Given the description of an element on the screen output the (x, y) to click on. 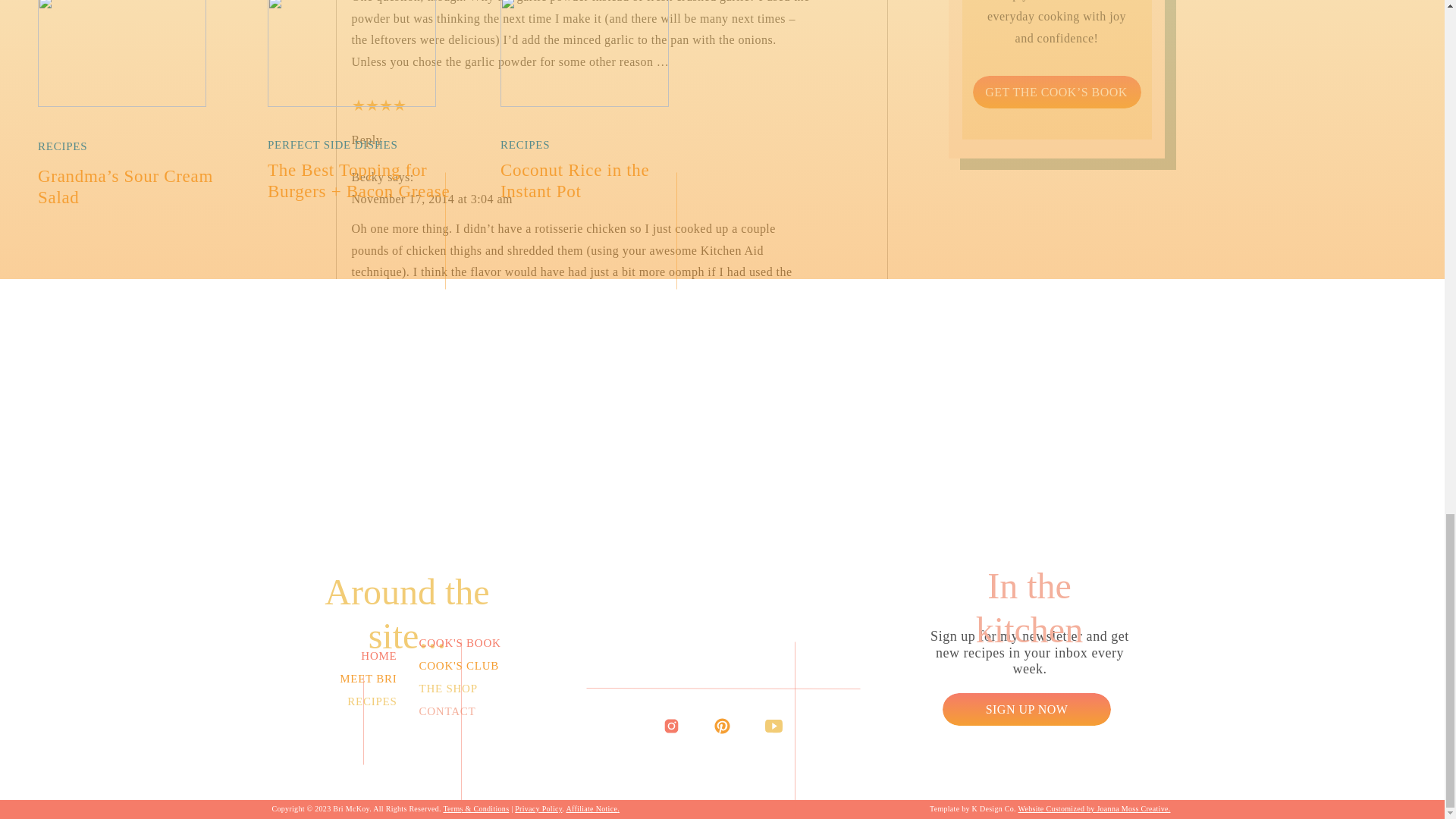
Joy the Baker Podcast (407, 689)
easy HOMEMADE chicken broth (582, 538)
The Art of Simple (397, 736)
